Given the description of an element on the screen output the (x, y) to click on. 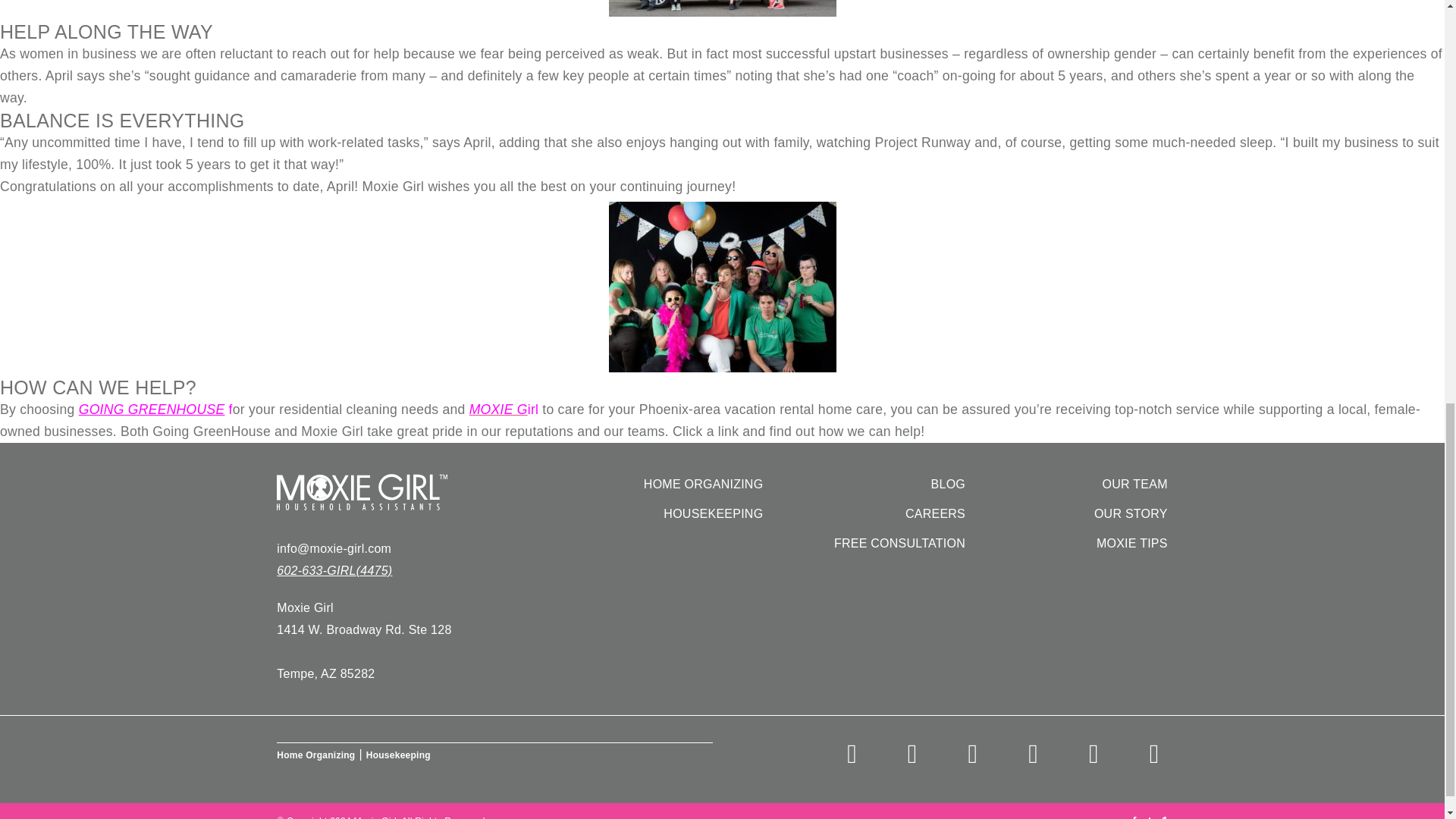
GOING GREENHOUSE (151, 409)
MOXIE G (497, 409)
MOXIE GIRL (418, 492)
